Given the description of an element on the screen output the (x, y) to click on. 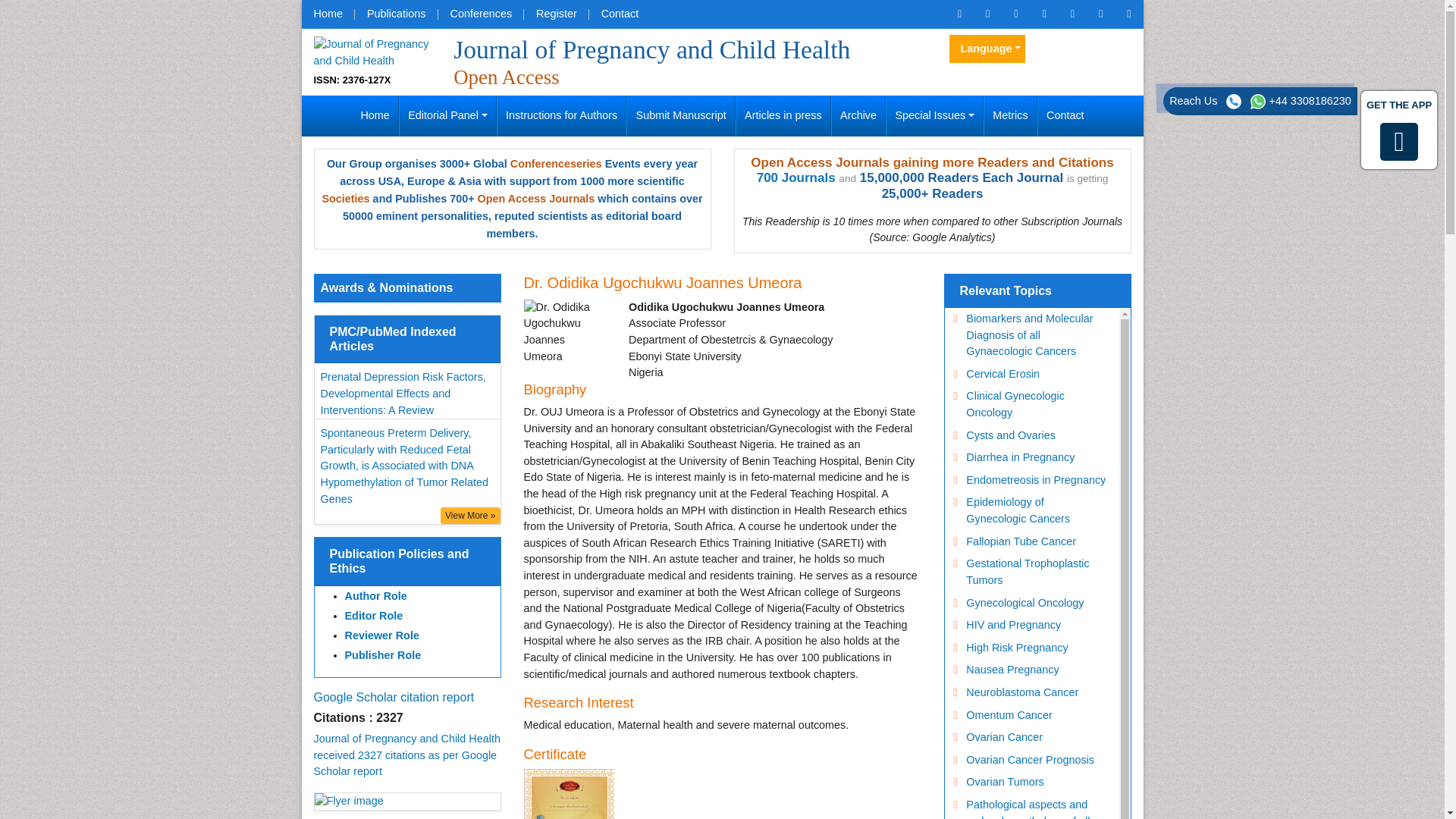
Omics RSS (1072, 14)
OMICS International Journals (396, 14)
Home (328, 14)
Register (556, 14)
Click here (959, 14)
Editorial Panel (447, 115)
Conferences (481, 14)
Language (987, 49)
Instructions for Authors (561, 115)
Omics Facebook (987, 14)
Omics Twitter (1015, 14)
Publications (396, 14)
Omics Youtube (1128, 14)
OMICS Group Conferences (481, 14)
Home (328, 14)
